Given the description of an element on the screen output the (x, y) to click on. 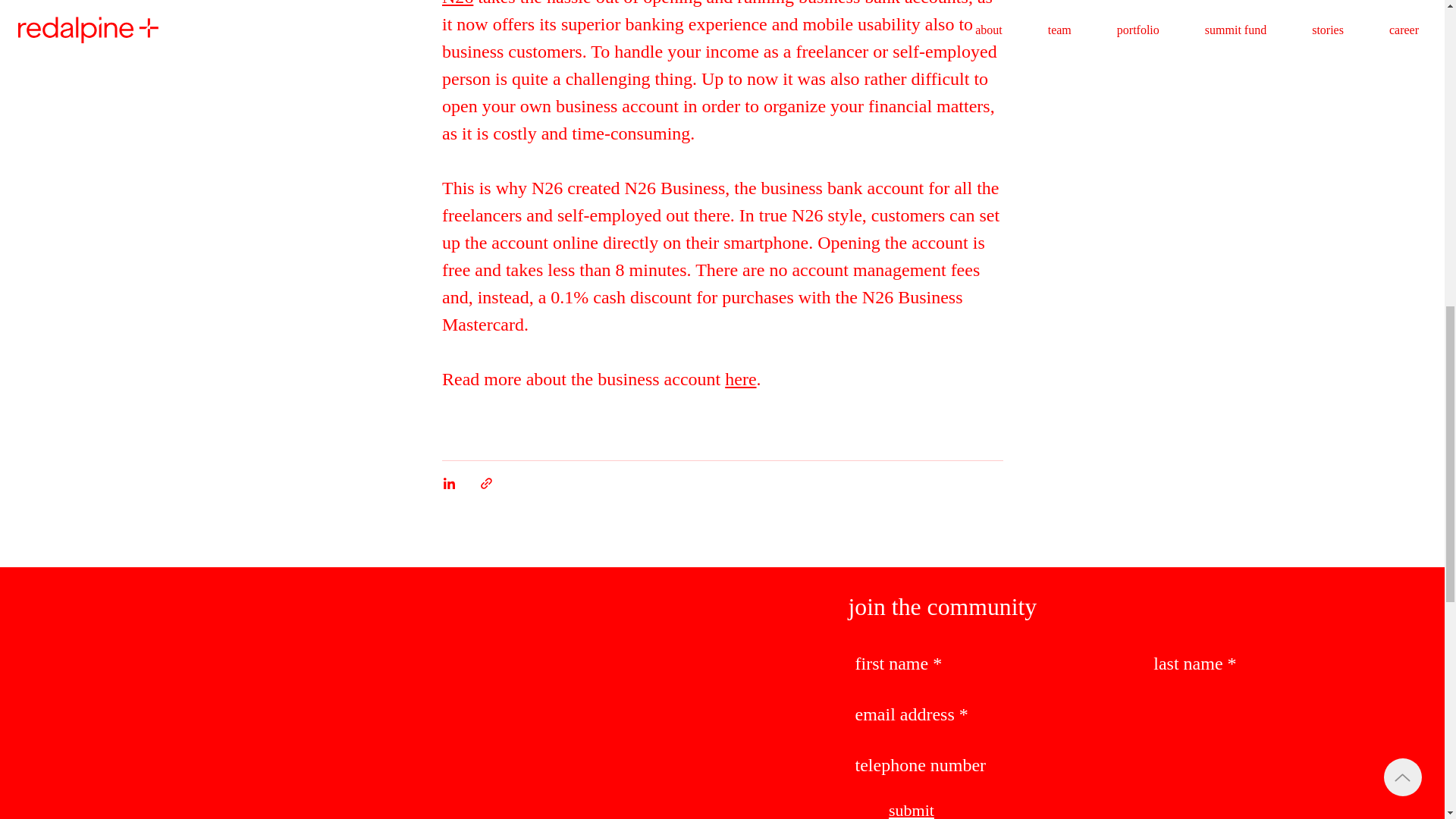
here (740, 379)
submit (911, 809)
N26 (456, 3)
